Given the description of an element on the screen output the (x, y) to click on. 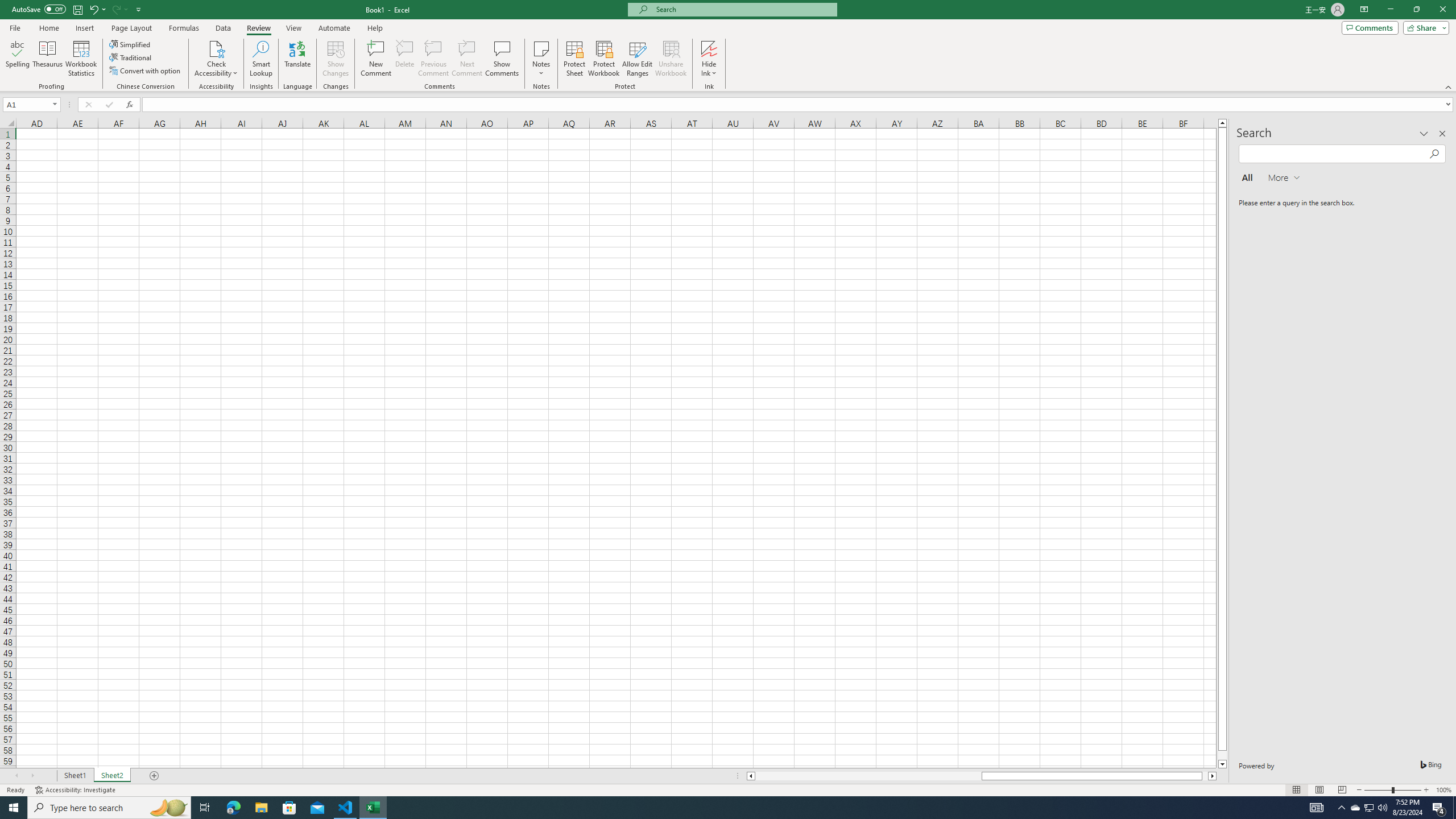
Show Comments (501, 58)
Delete (404, 58)
